Given the description of an element on the screen output the (x, y) to click on. 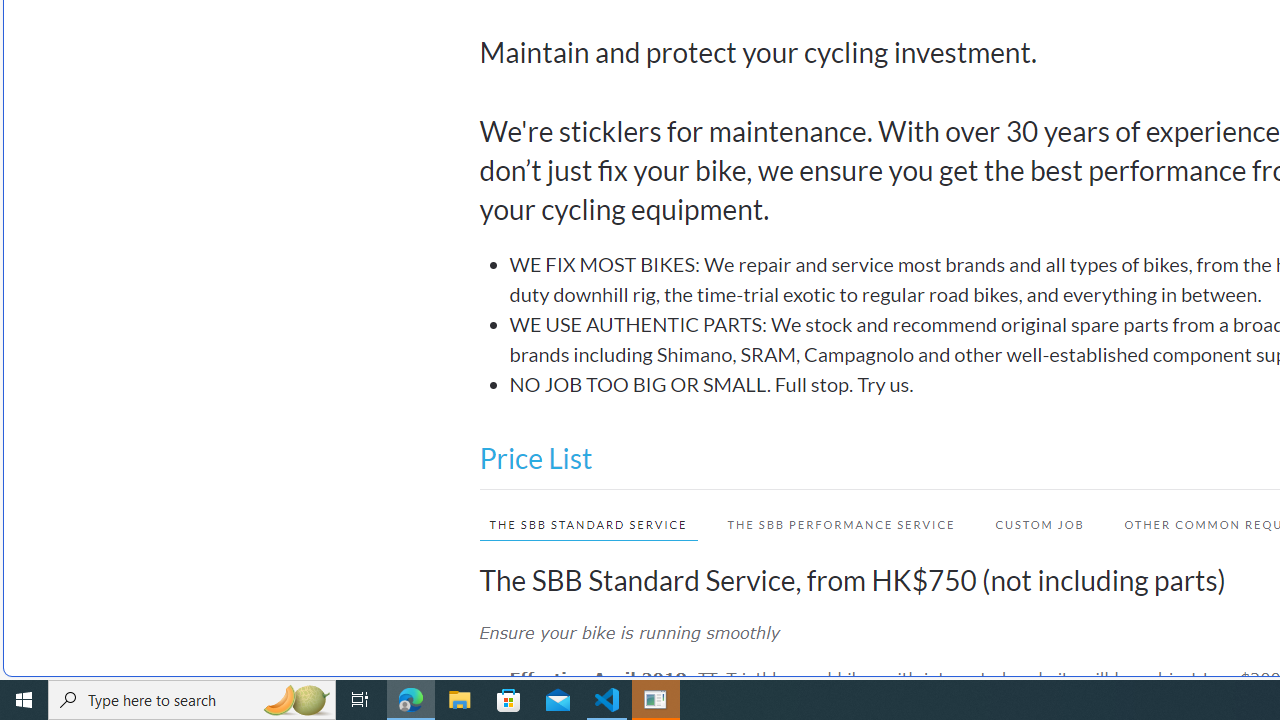
THE SBB STANDARD SERVICE (578, 524)
THE SBB PERFORMANCE SERVICE (841, 524)
THE SBB STANDARD SERVICE (587, 524)
CUSTOM JOB (1039, 524)
THE SBB PERFORMANCE SERVICE (831, 524)
CUSTOM JOB (1029, 524)
